Given the description of an element on the screen output the (x, y) to click on. 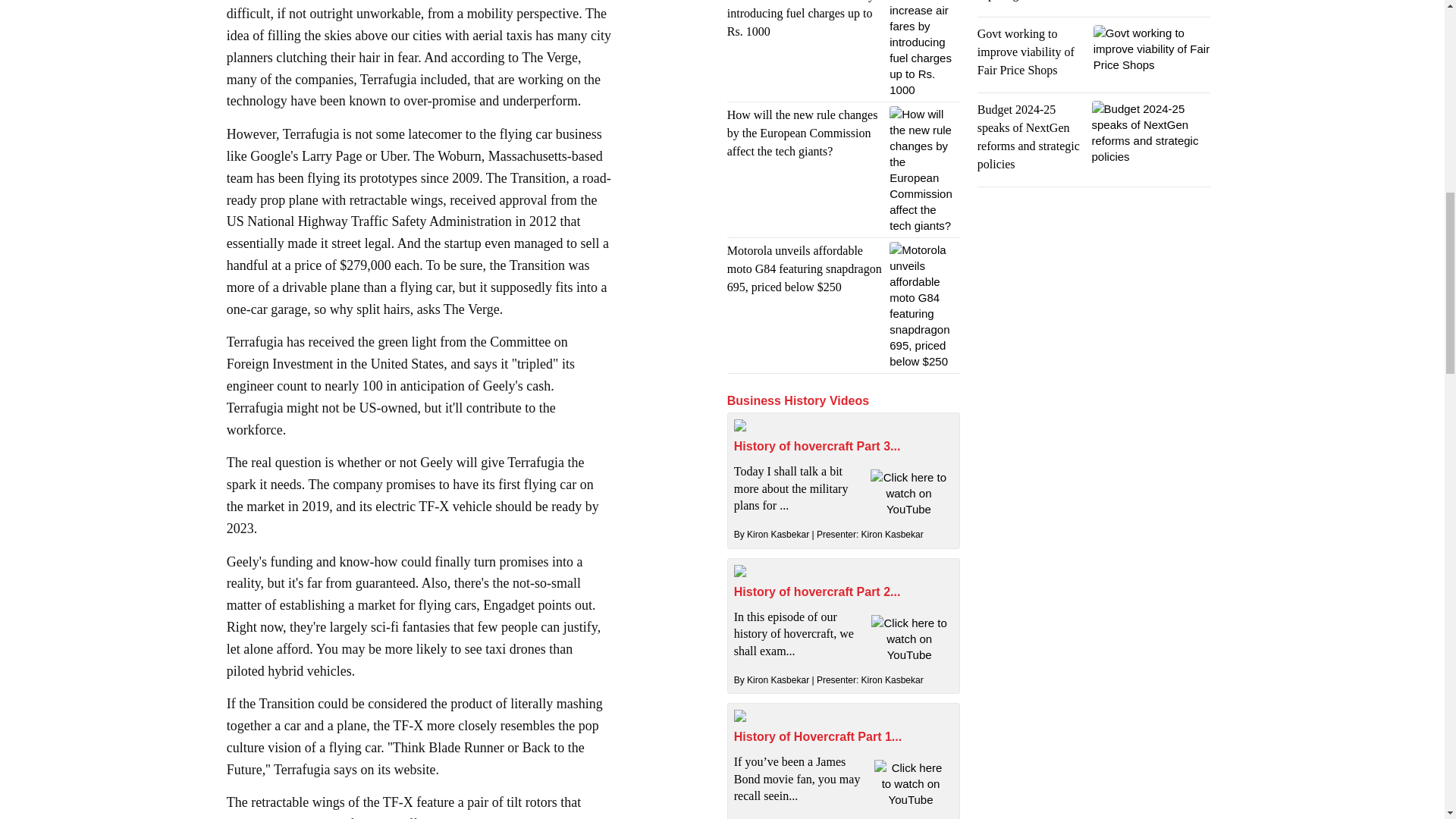
Click here to watch on YouTube (908, 492)
Click here to watch on YouTube (908, 638)
